Given the description of an element on the screen output the (x, y) to click on. 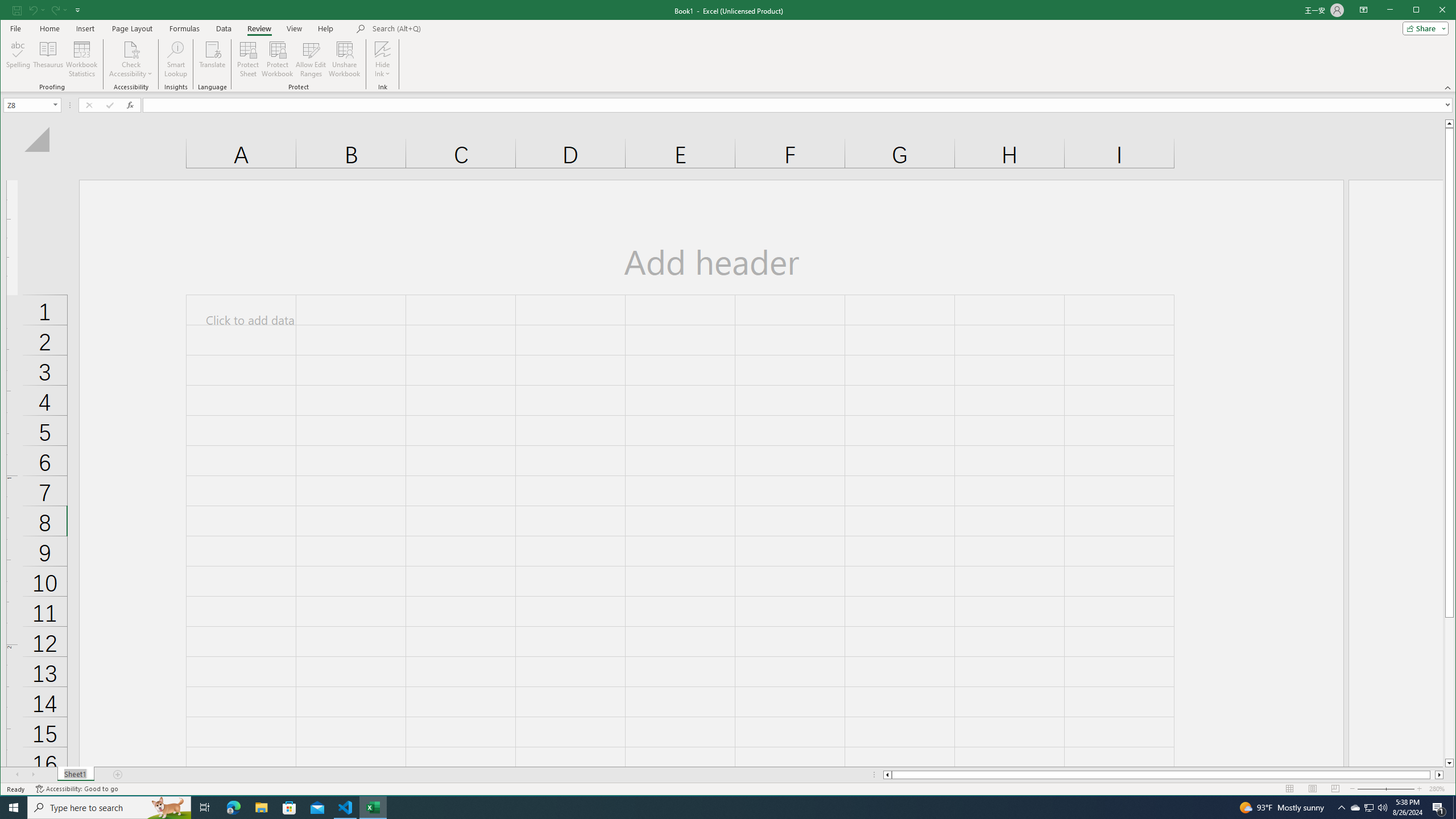
Task View (204, 807)
Notification Chevron (1341, 807)
Visual Studio Code - 1 running window (345, 807)
Show desktop (1454, 807)
Translate (212, 59)
